Given the description of an element on the screen output the (x, y) to click on. 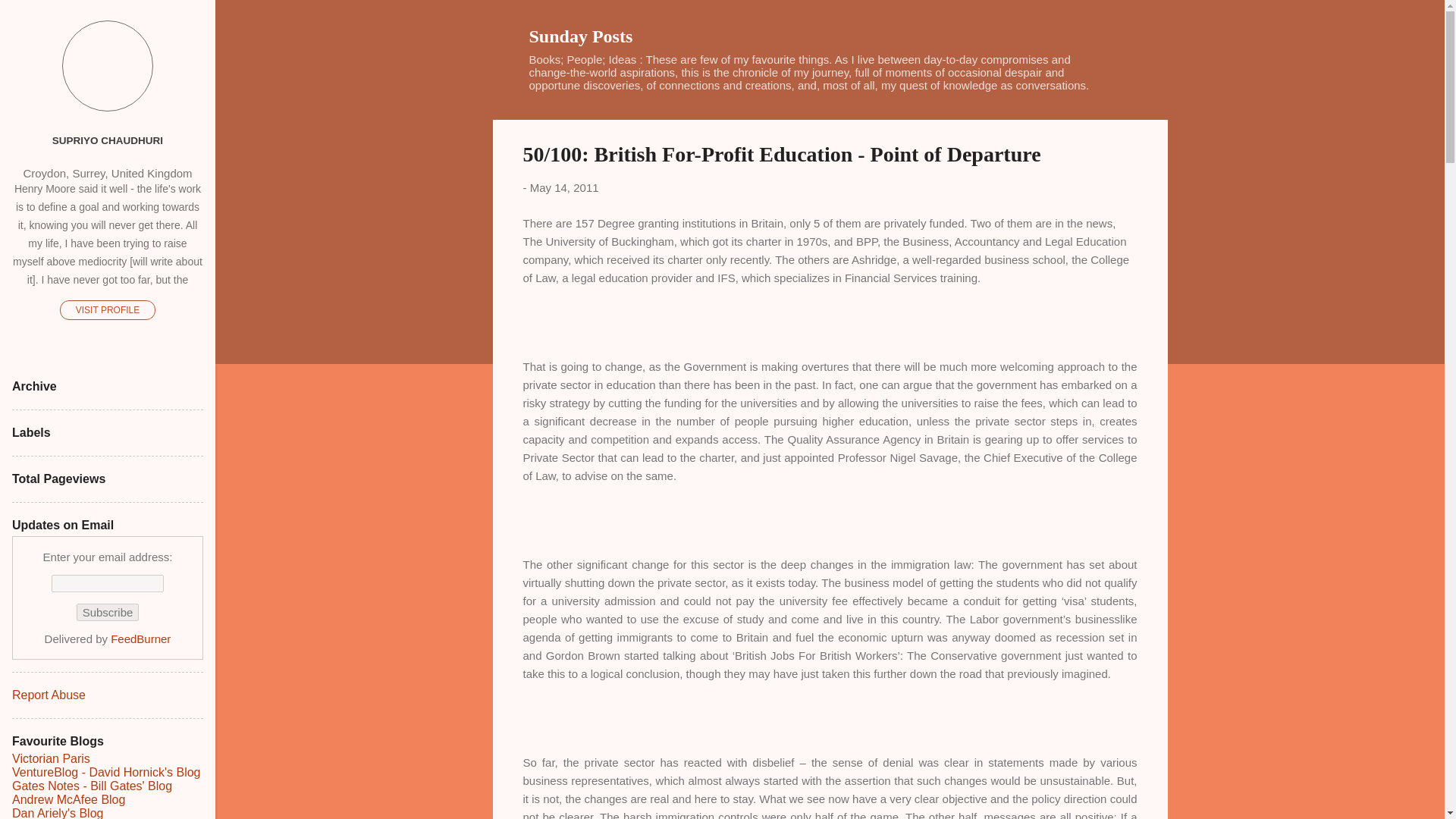
Search (29, 18)
Subscribe (108, 611)
Sunday Posts (581, 35)
May 14, 2011 (563, 187)
permanent link (563, 187)
